Given the description of an element on the screen output the (x, y) to click on. 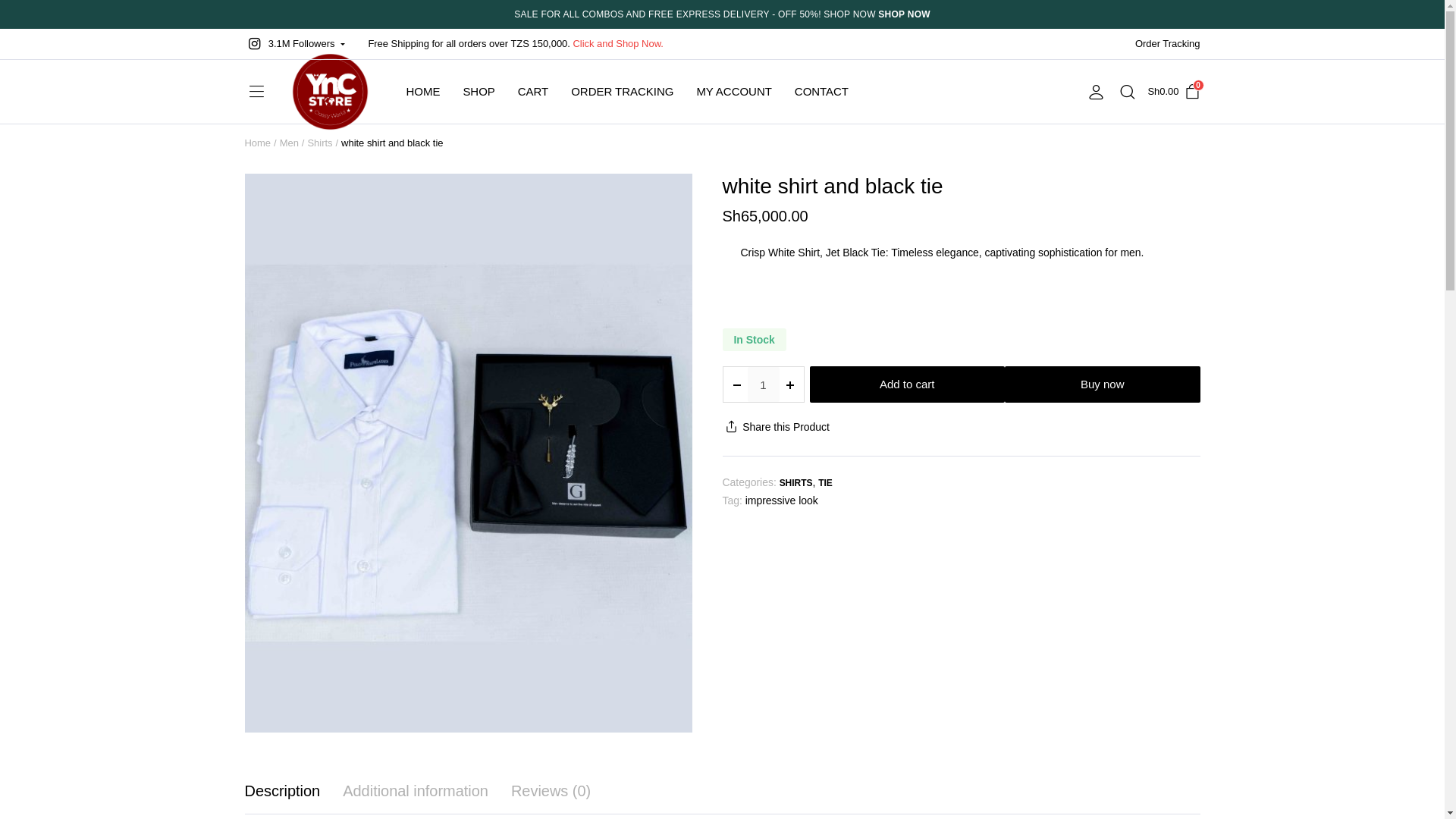
impressive look (781, 500)
Click and Shop Now. (617, 43)
Buy now (1101, 384)
ORDER TRACKING (621, 91)
Order Tracking (1167, 43)
3.1M Followers (294, 43)
Men (288, 142)
1 (763, 384)
Additional information (414, 790)
SHOP NOW (903, 14)
Description (282, 790)
Home (1173, 91)
SHIRTS (257, 142)
